Given the description of an element on the screen output the (x, y) to click on. 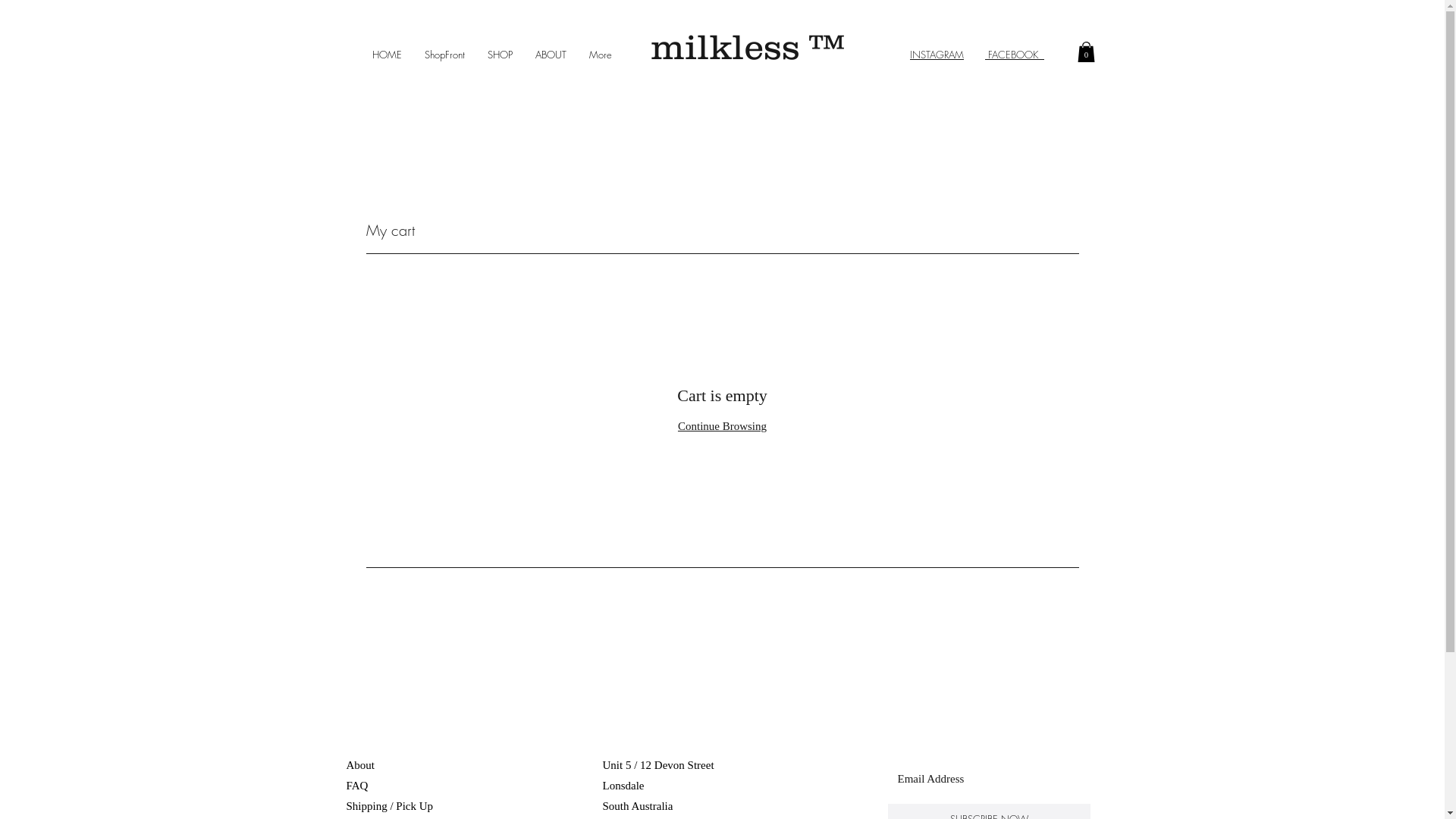
Continue Browsing Element type: text (721, 426)
0 Element type: text (1085, 51)
ShopFront Element type: text (444, 54)
 FACEBOOK   Element type: text (1014, 54)
SHOP Element type: text (500, 54)
Shipping / Pick Up  Element type: text (390, 806)
INSTAGRAM Element type: text (936, 54)
ABOUT Element type: text (550, 54)
FAQ Element type: text (356, 785)
HOME Element type: text (386, 54)
About Element type: text (359, 765)
